Given the description of an element on the screen output the (x, y) to click on. 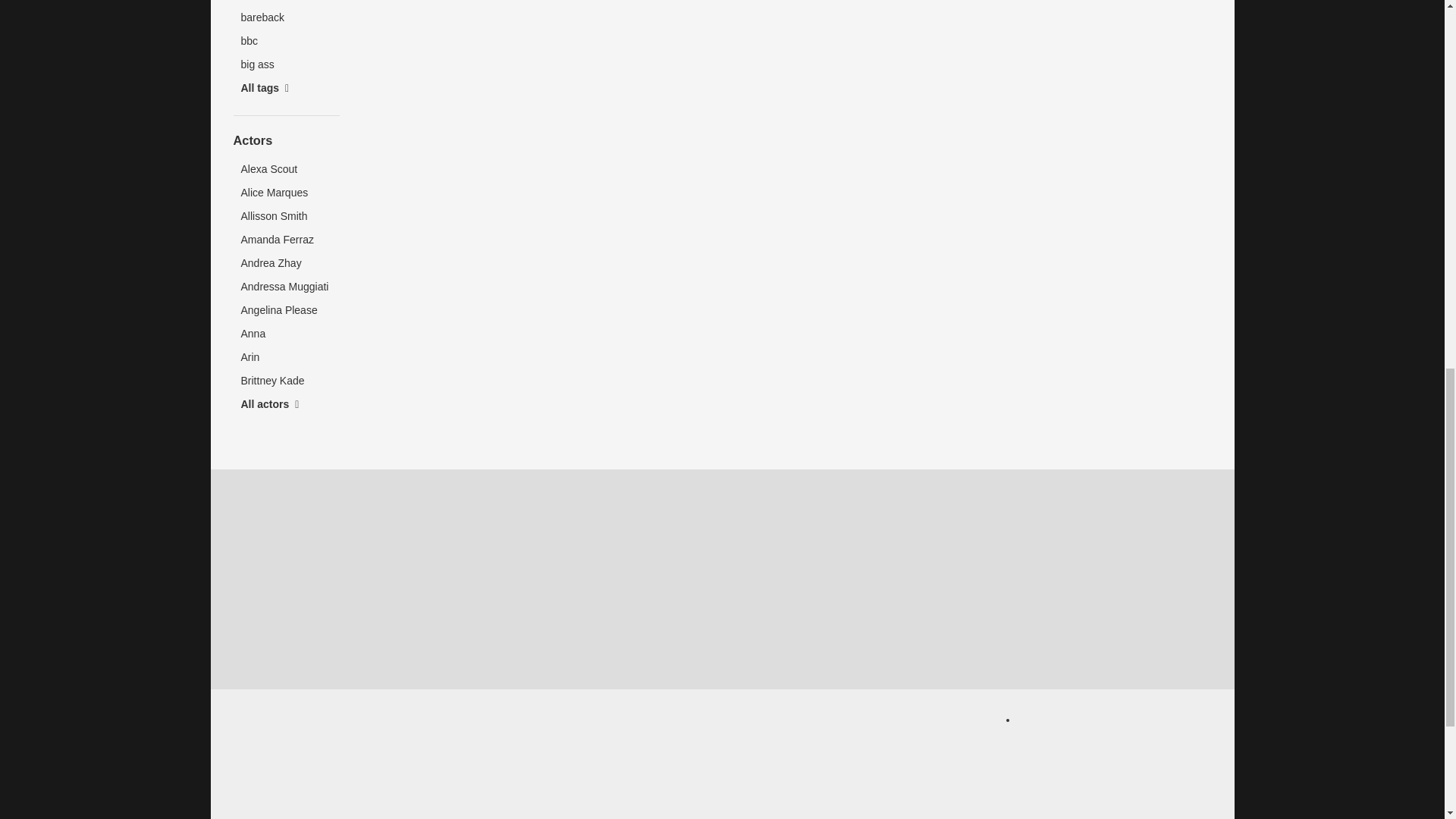
Andrea Zhay (285, 263)
bbc (285, 41)
Amanda Ferraz (285, 239)
Allisson Smith (285, 216)
ball sucking (285, 2)
Alice Marques (285, 192)
Alexa Scout (285, 169)
All tags (285, 87)
bareback (285, 17)
big ass (285, 64)
All tags (285, 87)
All actors (285, 404)
